Given the description of an element on the screen output the (x, y) to click on. 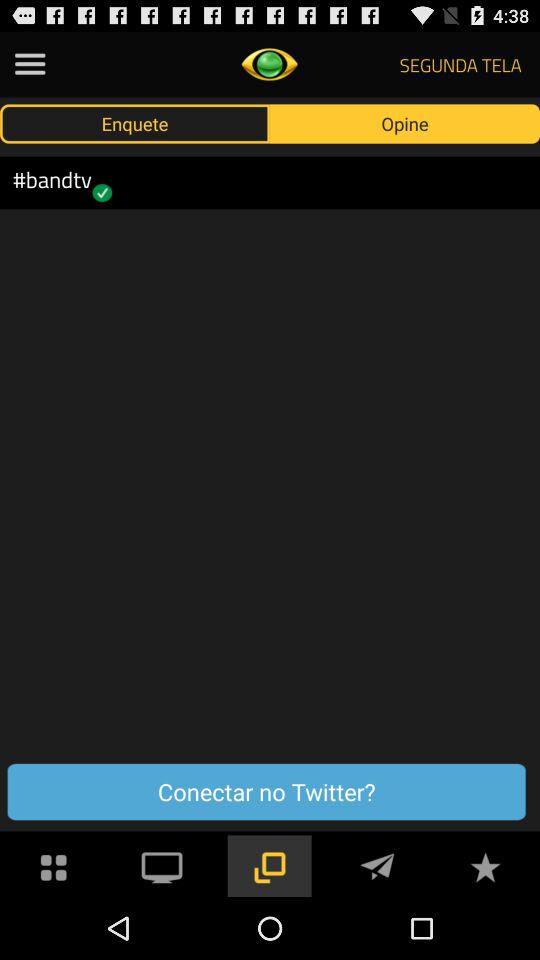
send (377, 865)
